Given the description of an element on the screen output the (x, y) to click on. 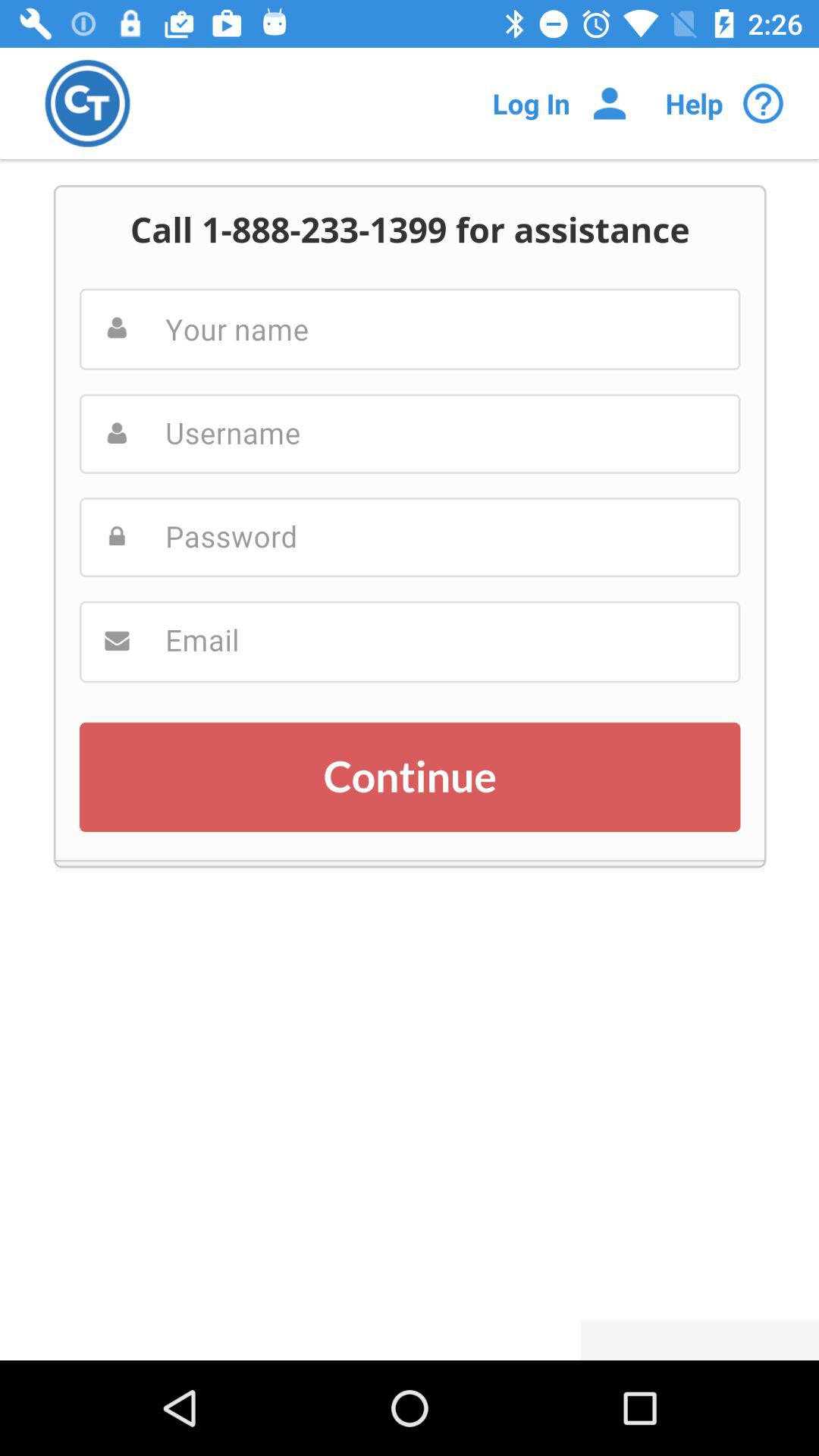
switch to app home page (87, 103)
